Given the description of an element on the screen output the (x, y) to click on. 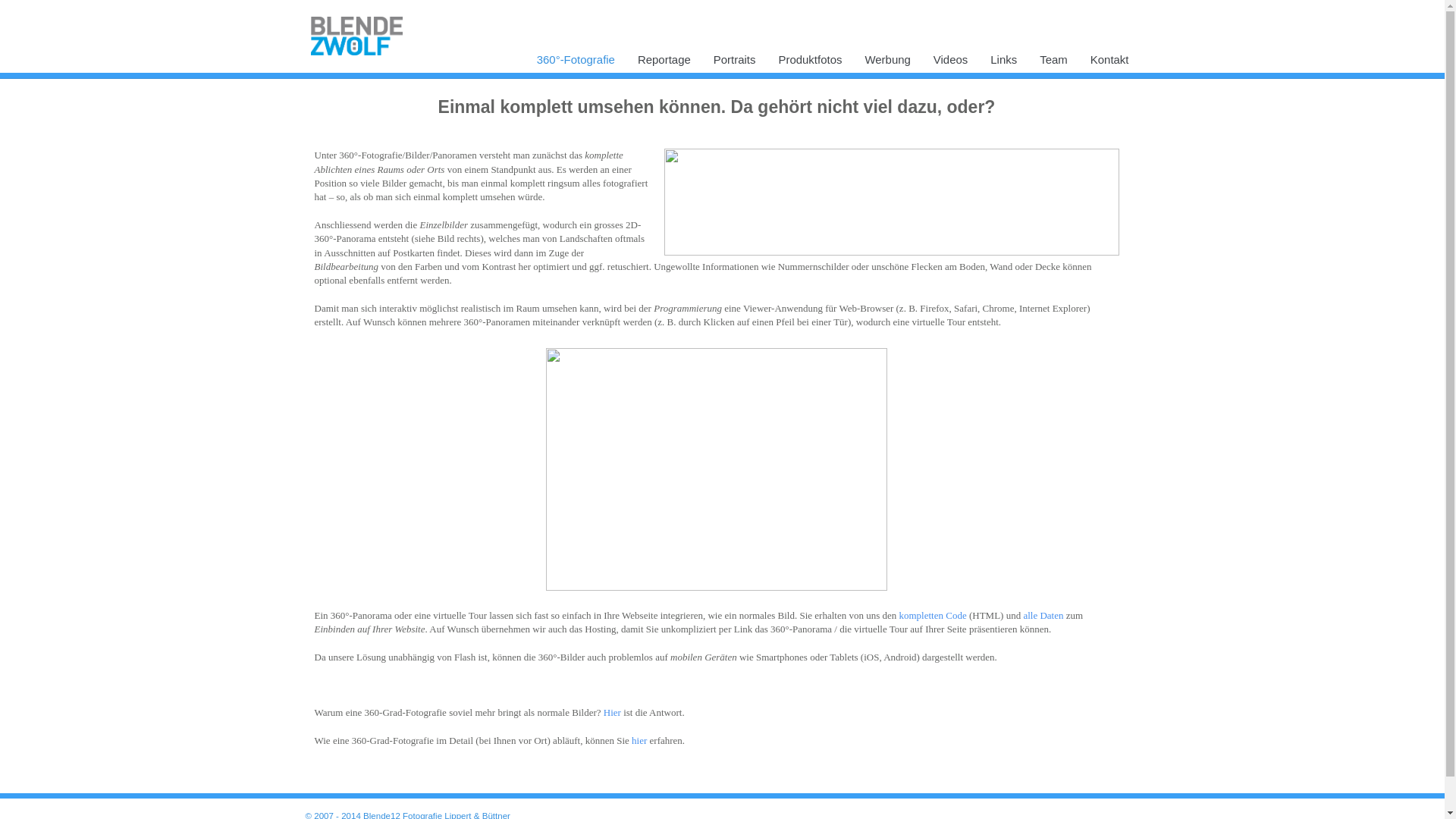
Werbung Element type: text (887, 63)
Hier Element type: text (612, 712)
hier Element type: text (638, 740)
Videos Element type: text (950, 63)
Links Element type: text (1003, 63)
Reportage Element type: text (664, 63)
Kontakt Element type: text (1109, 63)
Produktfotos Element type: text (809, 63)
Portraits Element type: text (734, 63)
Team Element type: text (1053, 63)
kompletten Code Element type: text (932, 615)
alle Daten Element type: text (1042, 615)
